Given the description of an element on the screen output the (x, y) to click on. 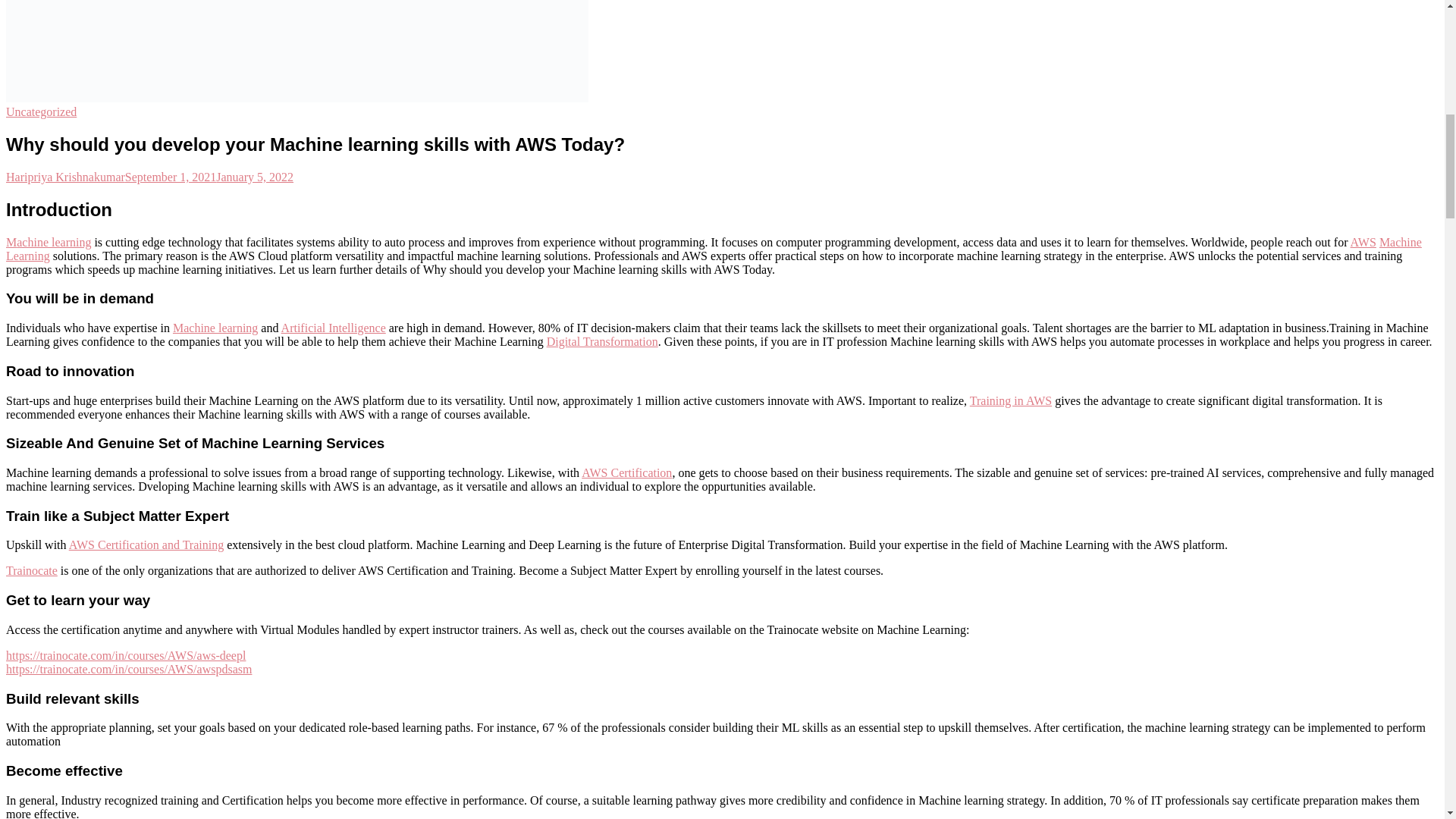
Machine learning (215, 327)
Haripriya Krishnakumar (65, 176)
Machine Learning (713, 248)
Machine learning (47, 241)
AWS (1363, 241)
Uncategorized (41, 111)
September 1, 2021January 5, 2022 (209, 176)
